Given the description of an element on the screen output the (x, y) to click on. 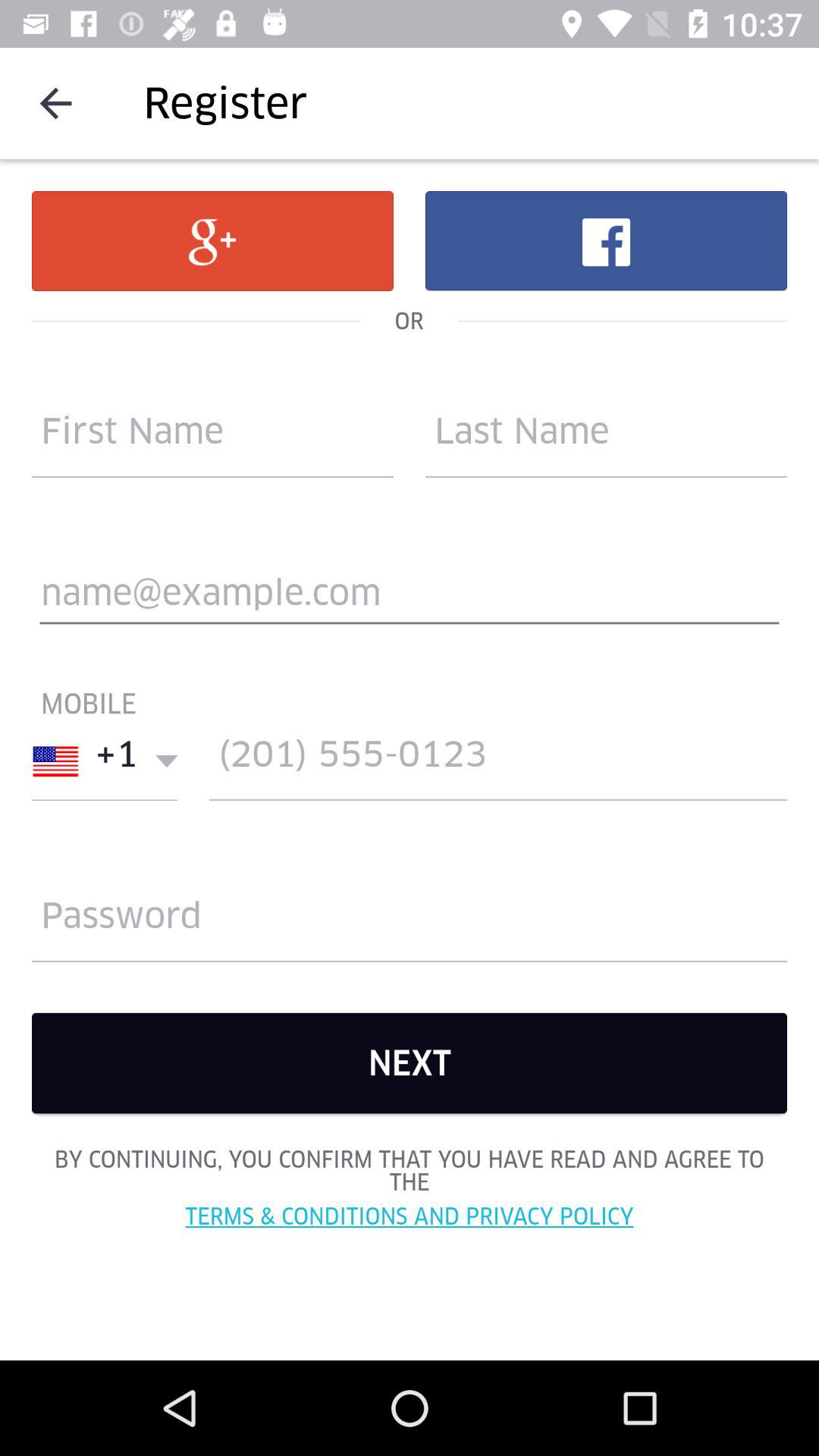
go to create (498, 761)
